Given the description of an element on the screen output the (x, y) to click on. 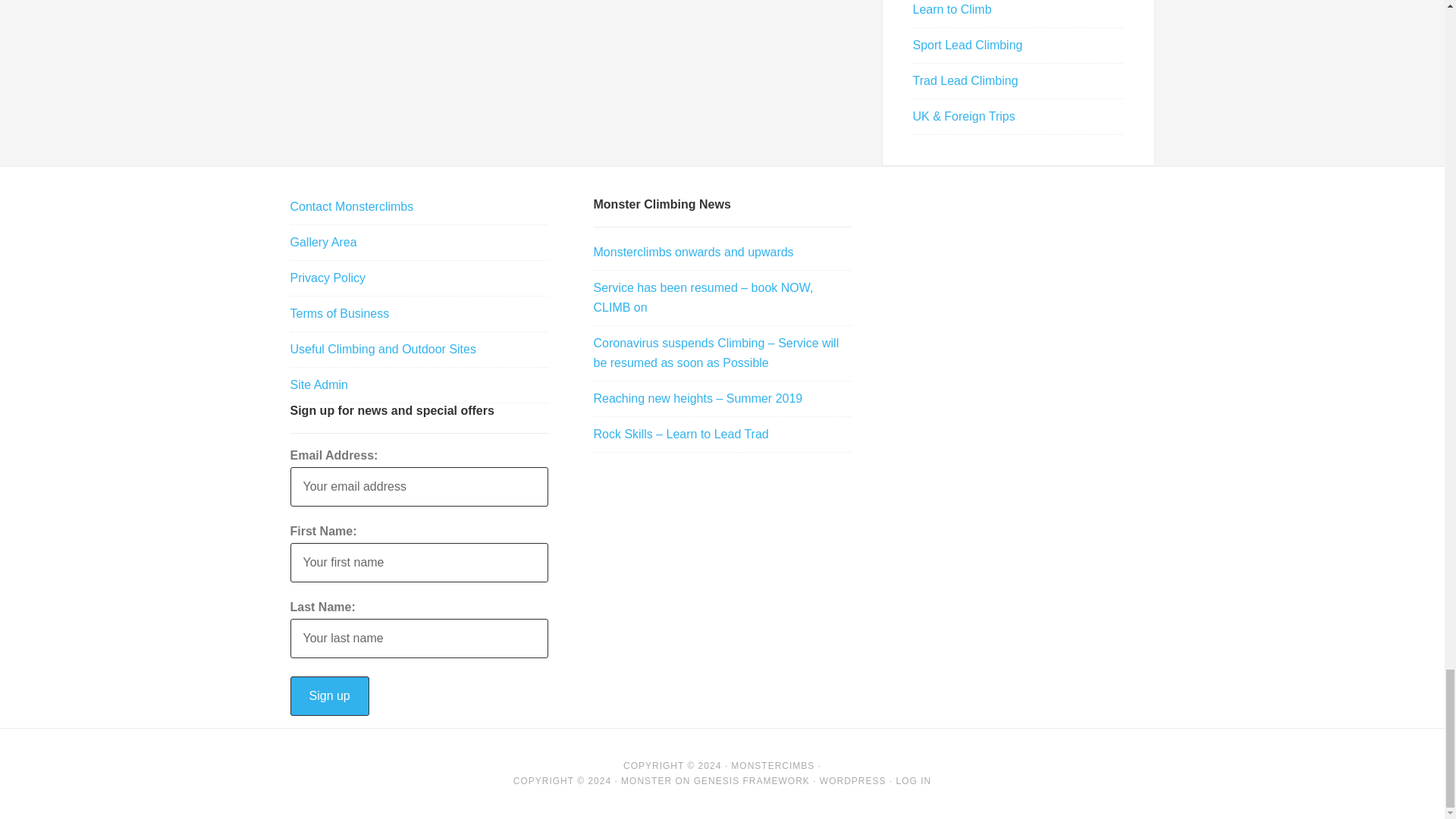
Sign up (328, 695)
